Given the description of an element on the screen output the (x, y) to click on. 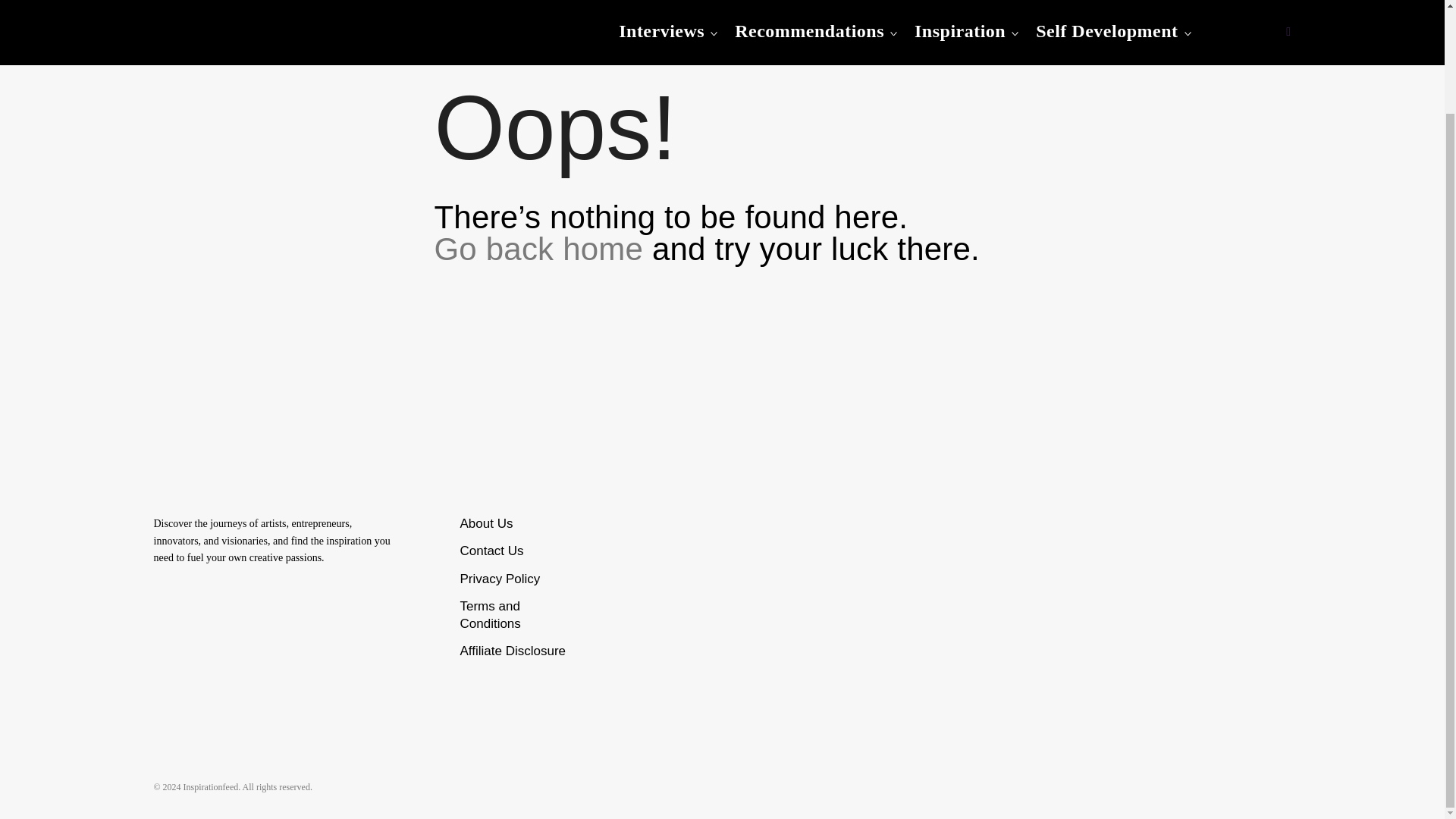
Privacy Policy (500, 578)
Terms and Conditions (489, 614)
Go back home (538, 248)
contact (491, 550)
About Us (486, 523)
Contact Us (491, 550)
about (486, 523)
Affiliate Disclosure (513, 650)
